Given the description of an element on the screen output the (x, y) to click on. 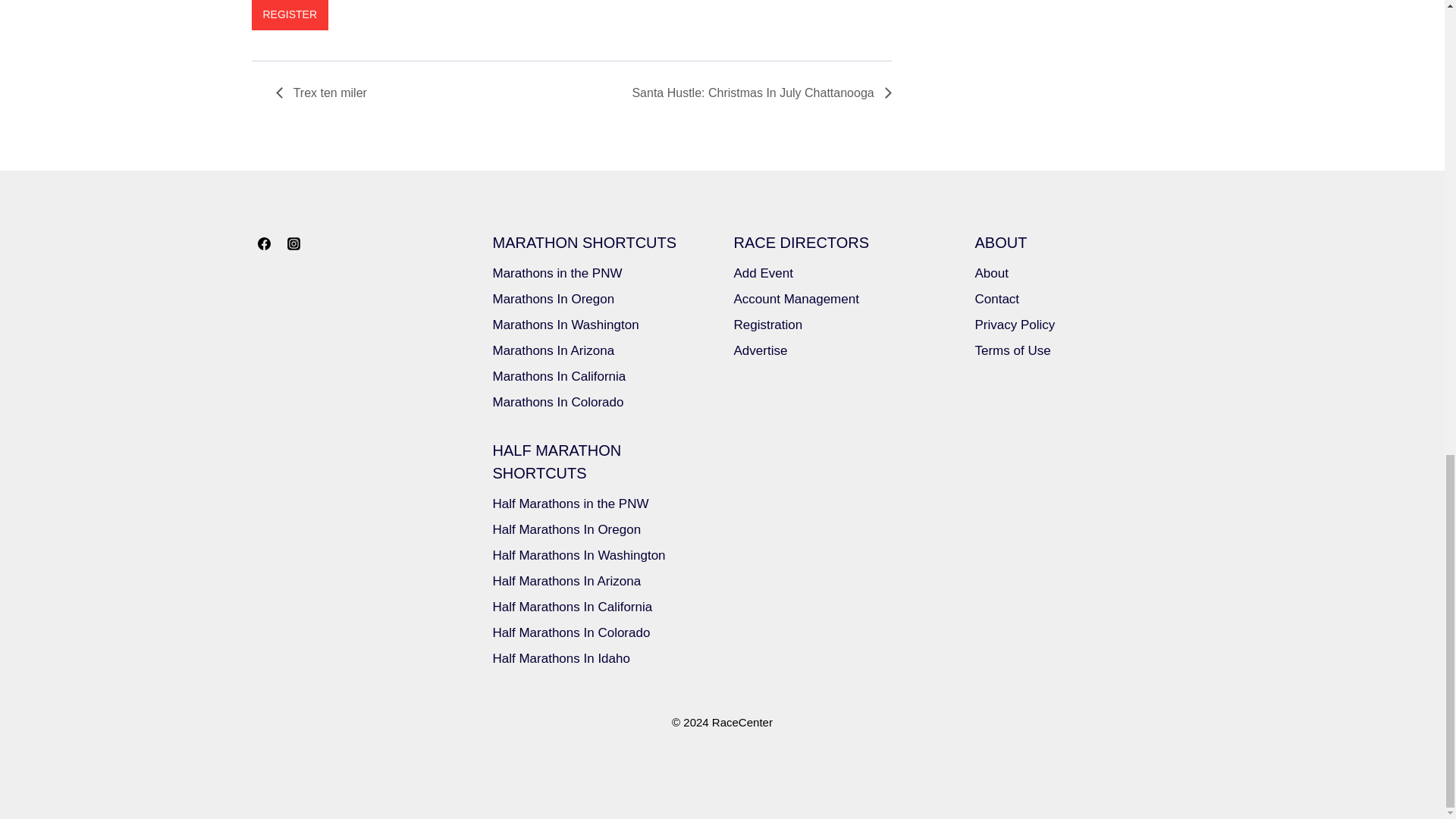
Santa Hustle: Christmas In July Chattanooga (757, 92)
Trex ten miler (325, 92)
REGISTER (290, 15)
